Given the description of an element on the screen output the (x, y) to click on. 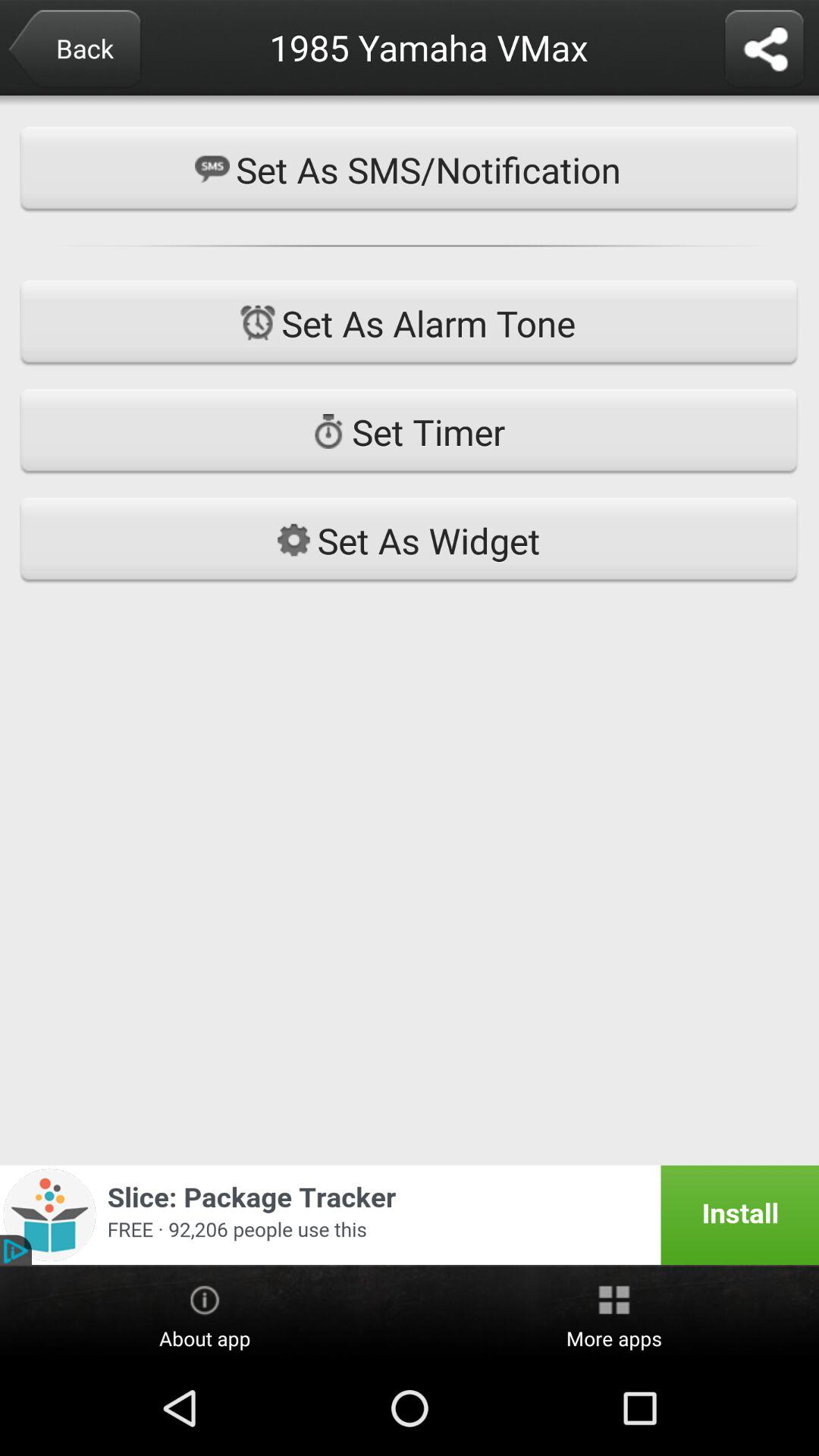
open the advertisement page (409, 1214)
